Given the description of an element on the screen output the (x, y) to click on. 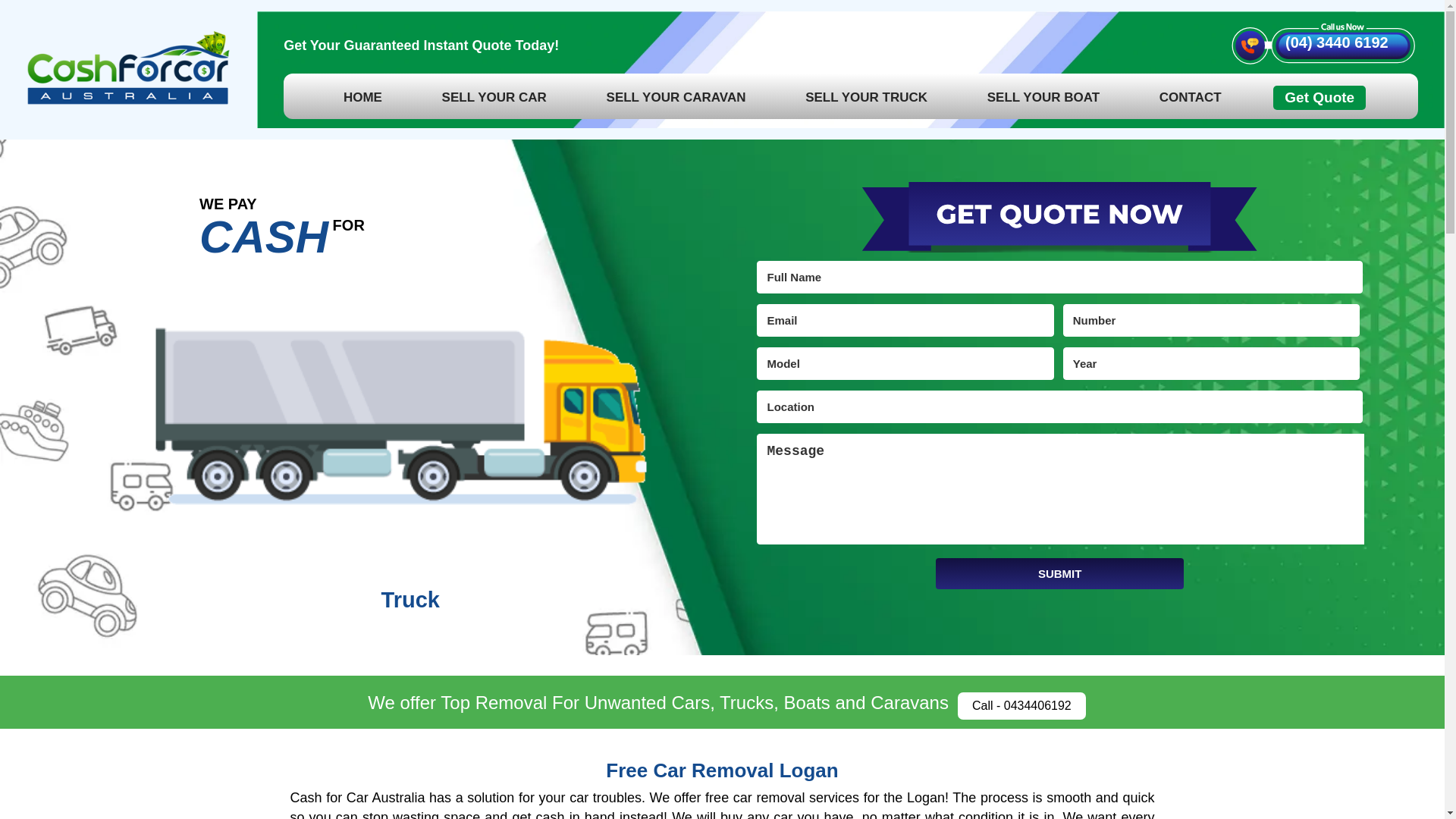
Submit (1059, 572)
Please type a number (1210, 319)
Please type a valid year e.g. 2020 (1210, 363)
